Given the description of an element on the screen output the (x, y) to click on. 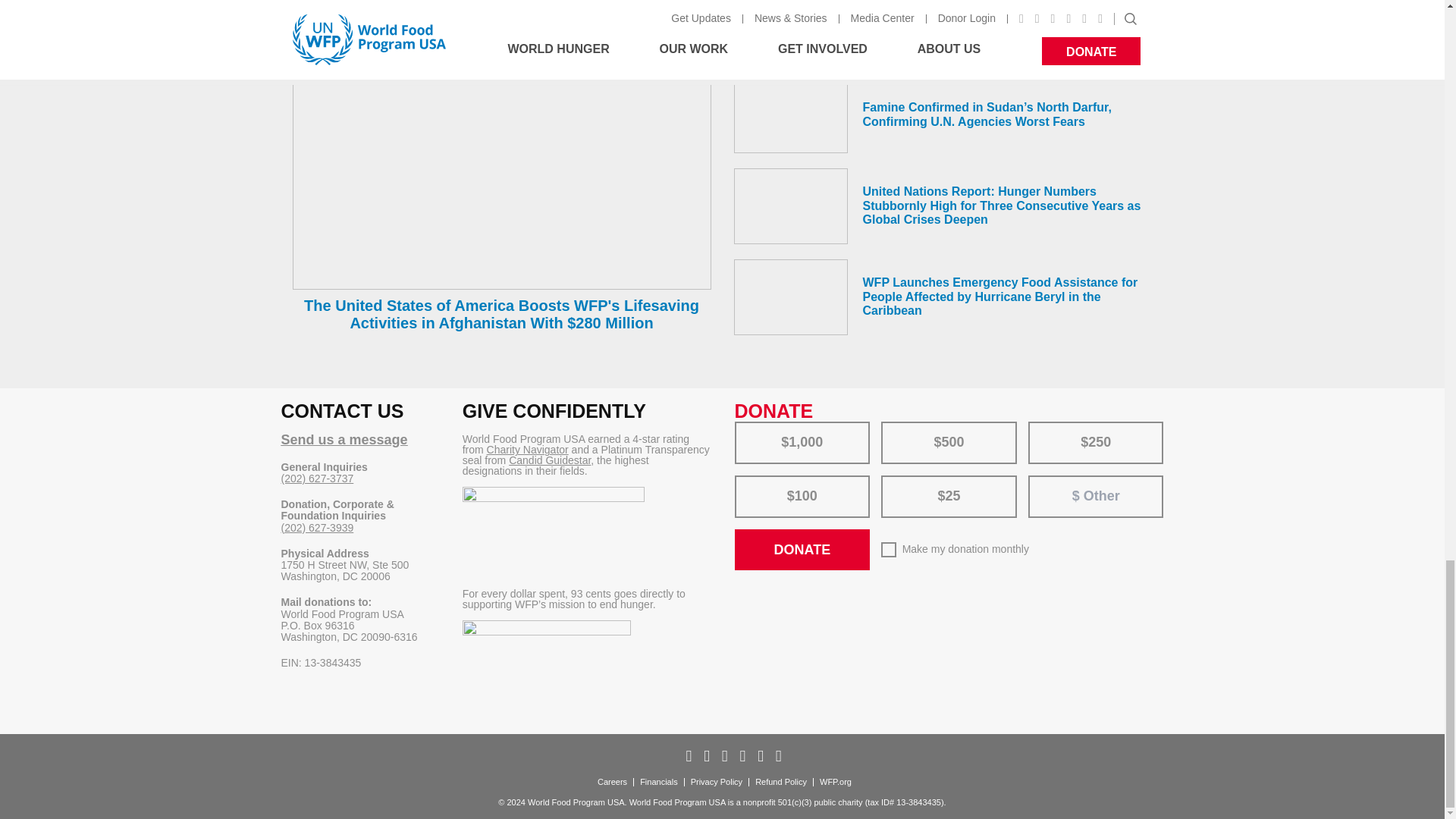
100 (744, 480)
custom (1046, 481)
500 (891, 426)
250 (1038, 426)
25 (891, 480)
1,000 (744, 426)
